Given the description of an element on the screen output the (x, y) to click on. 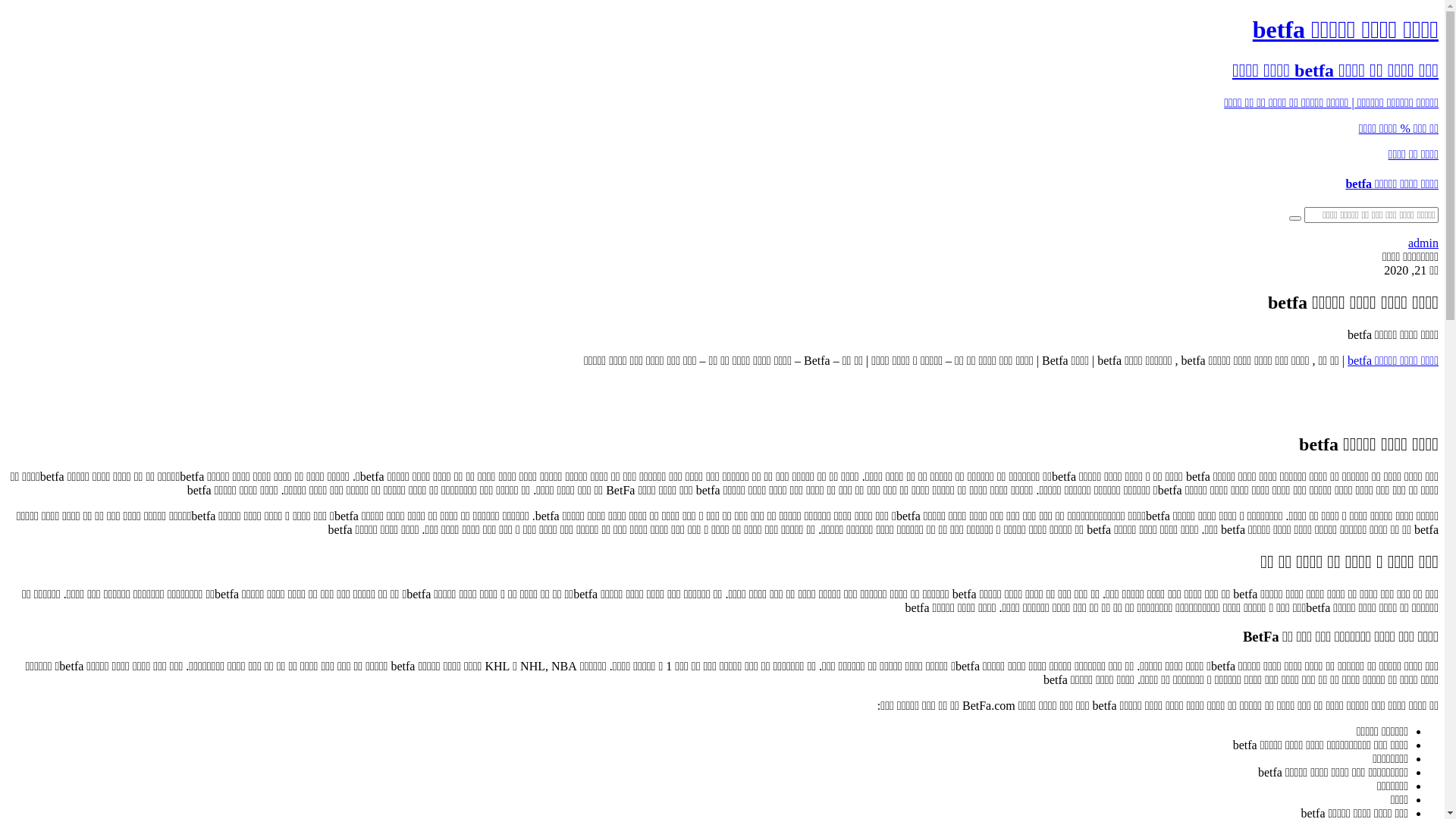
admin Element type: text (1423, 242)
